Given the description of an element on the screen output the (x, y) to click on. 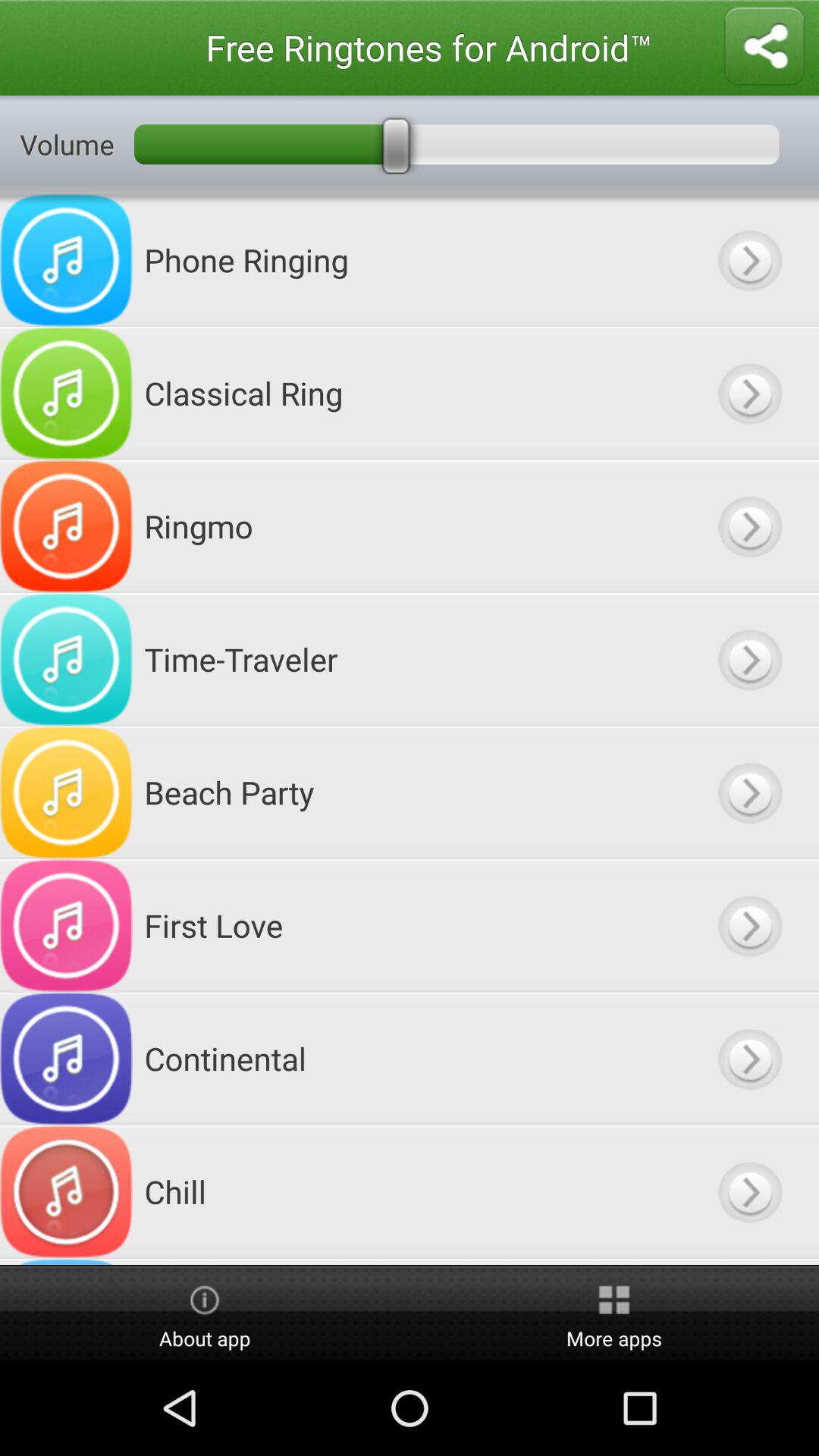
go to next (749, 1261)
